Given the description of an element on the screen output the (x, y) to click on. 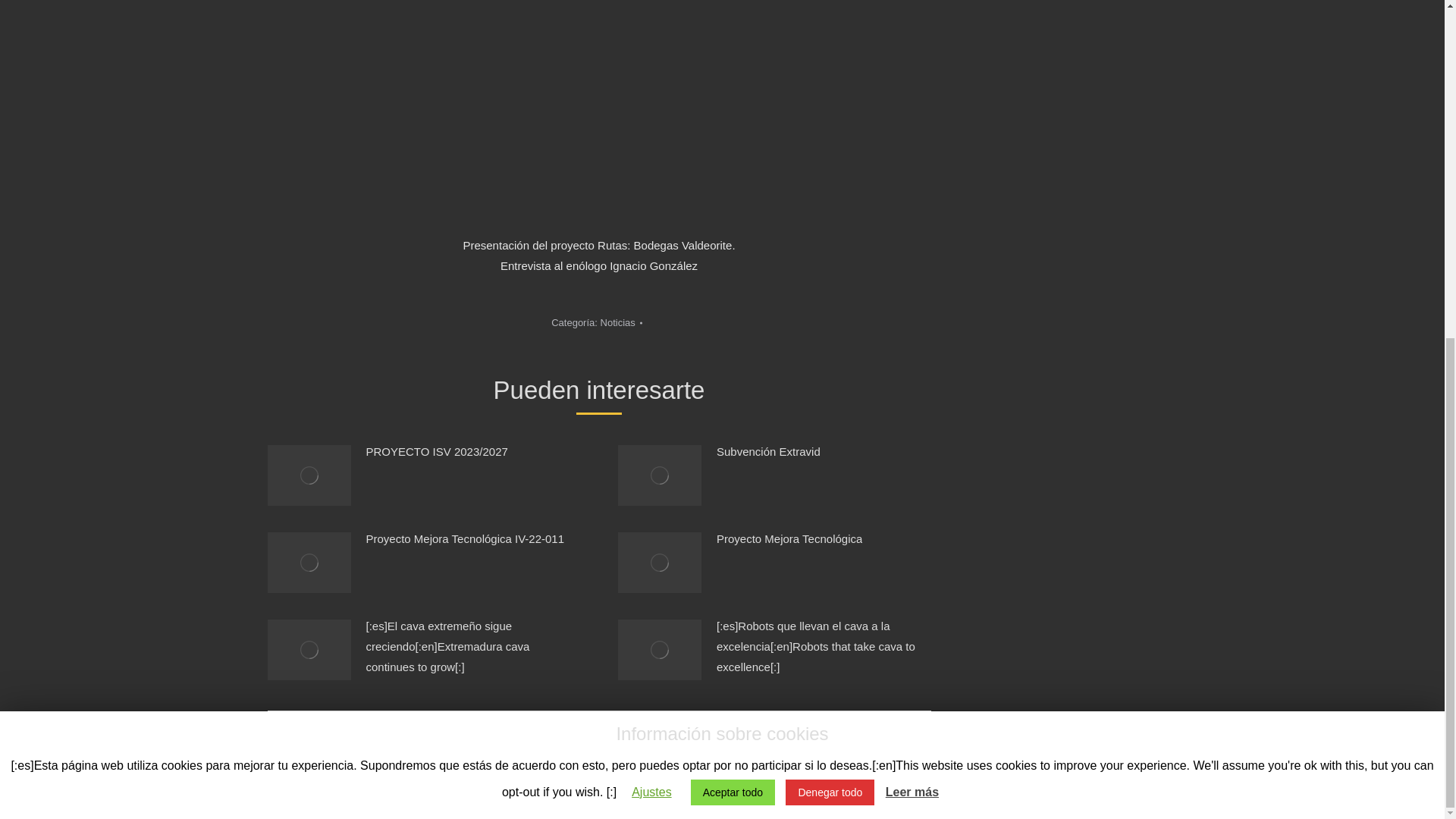
Noticias (616, 322)
